Given the description of an element on the screen output the (x, y) to click on. 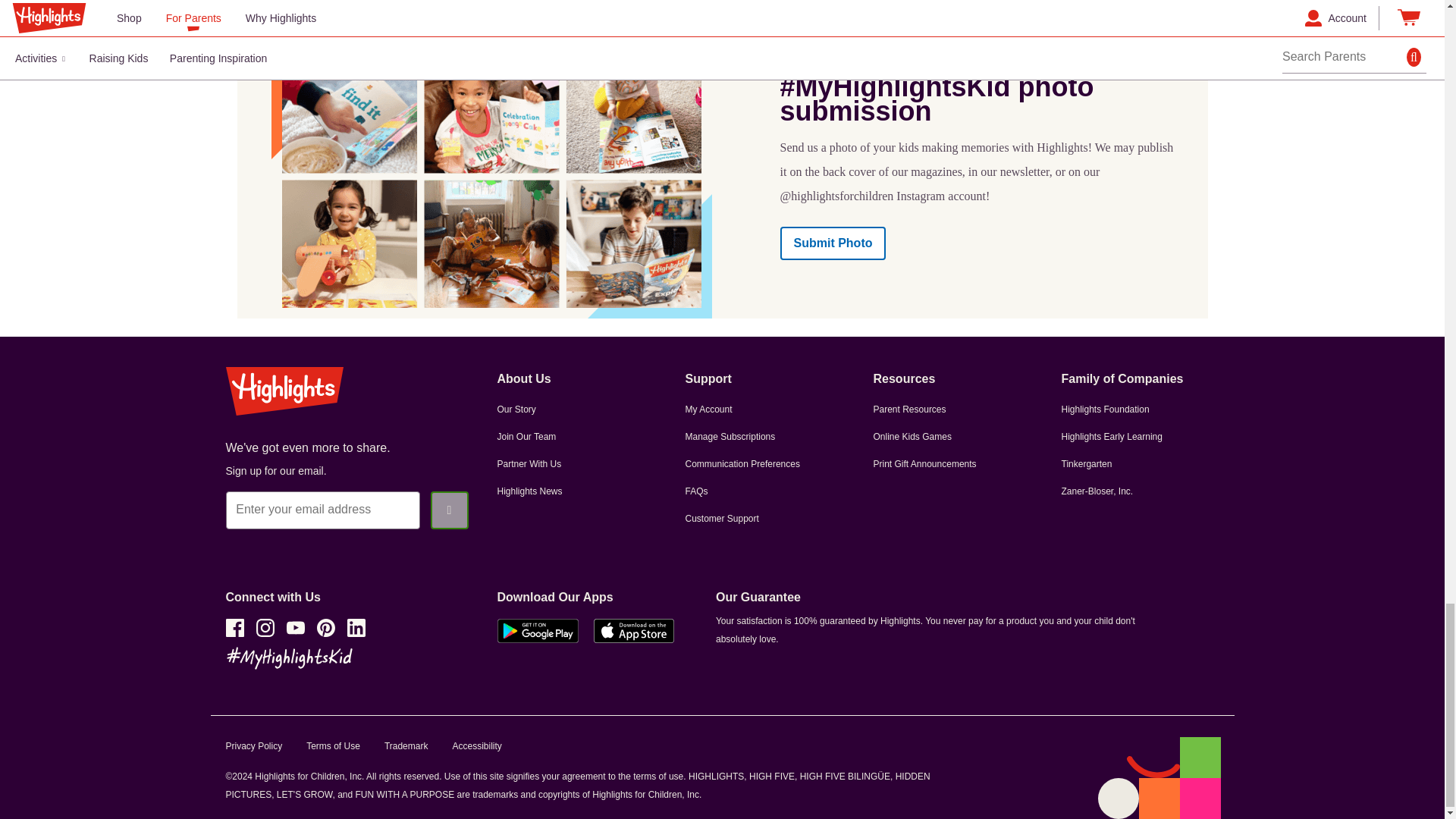
instagram (265, 628)
youtube (295, 628)
linkedin (356, 628)
Google Play Store Link (537, 635)
facebook (234, 628)
Apple App Store (634, 635)
pinterest (325, 628)
